Given the description of an element on the screen output the (x, y) to click on. 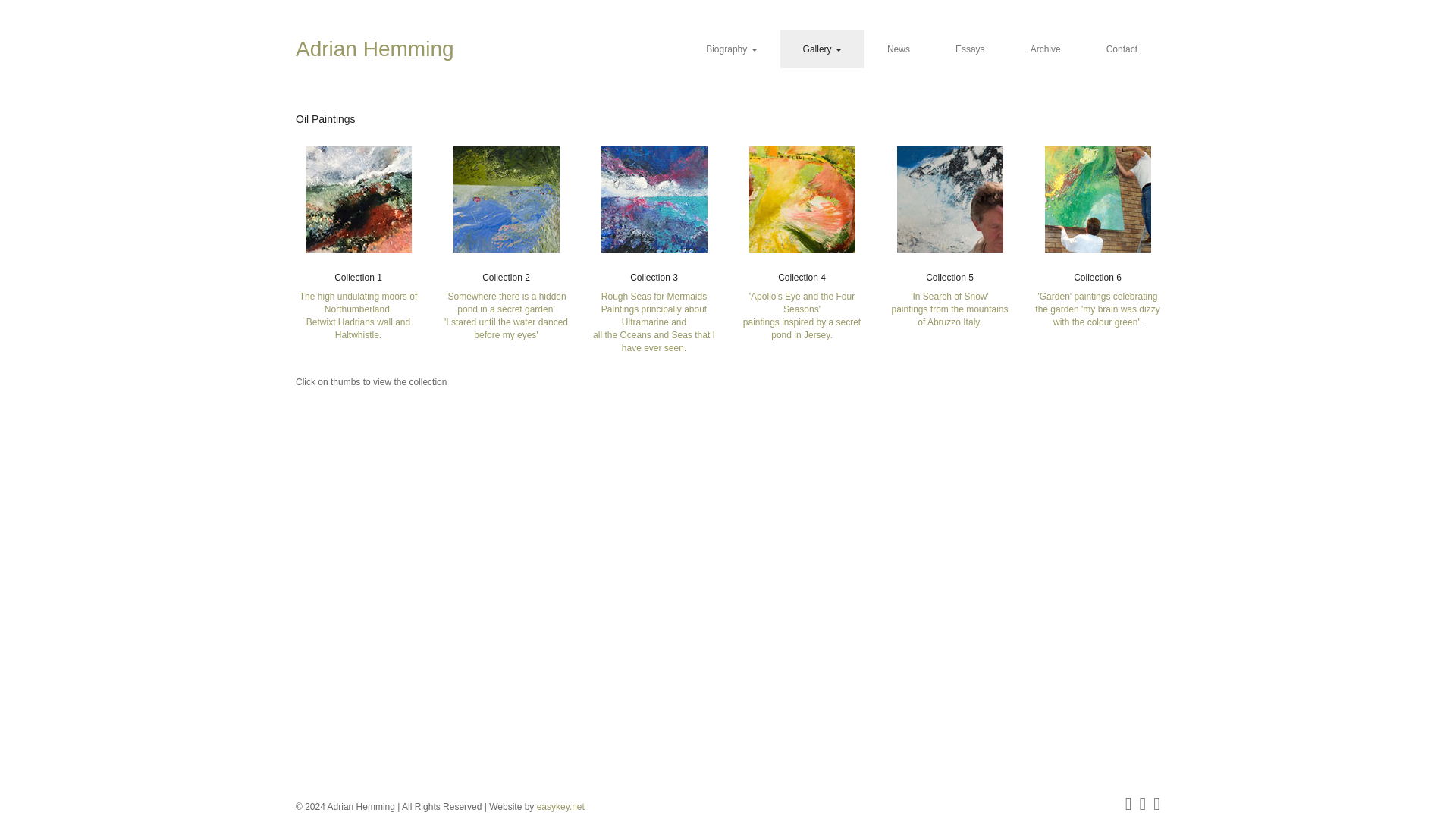
Contact (1121, 48)
Adrian Hemming (386, 48)
News (898, 48)
Archive (1045, 48)
Gallery (822, 48)
Essays (970, 48)
Biography (730, 48)
